Given the description of an element on the screen output the (x, y) to click on. 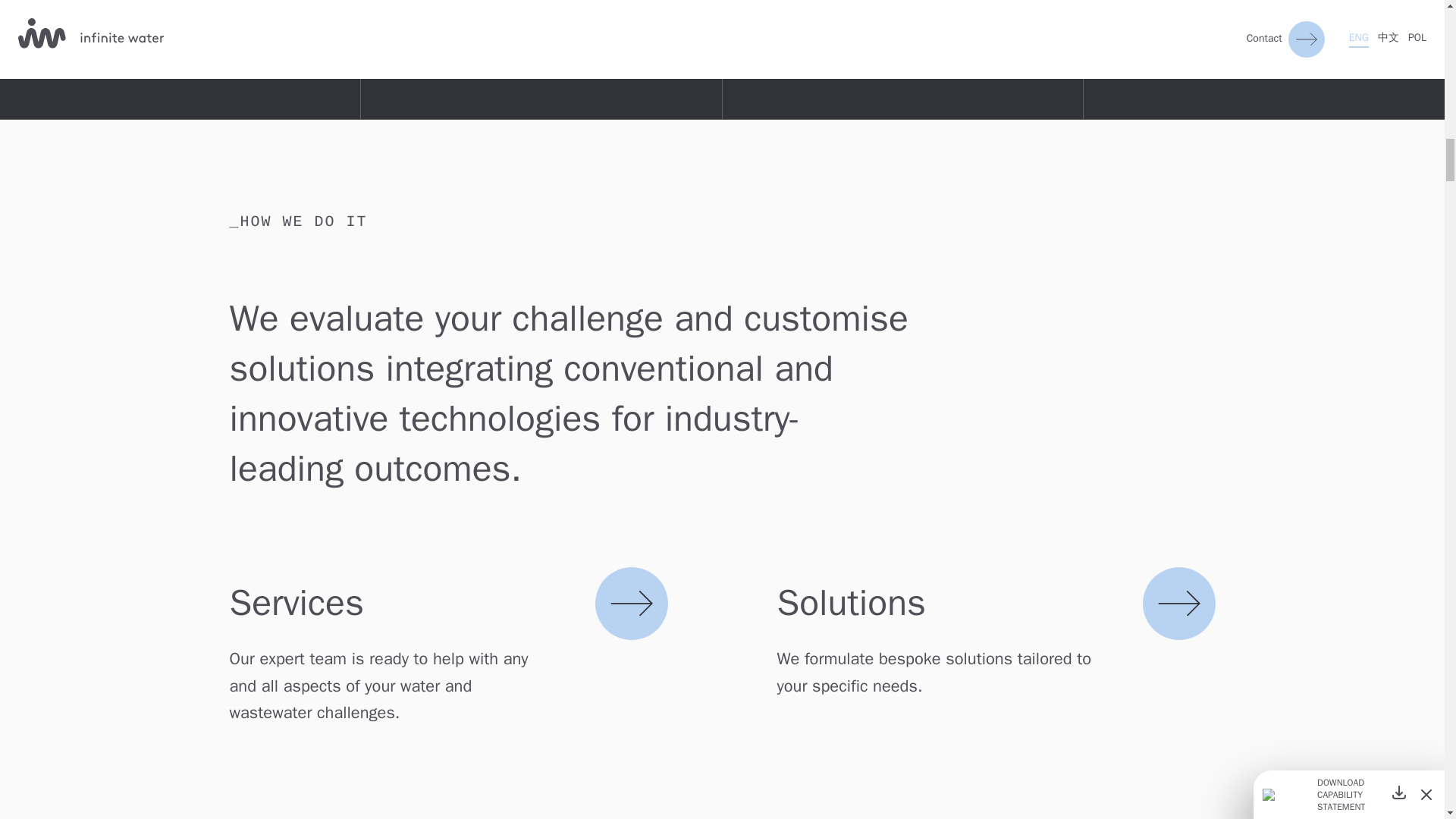
Metal processing (454, 7)
Institutional (1158, 35)
Recreational (1160, 7)
Mining (419, 35)
